Given the description of an element on the screen output the (x, y) to click on. 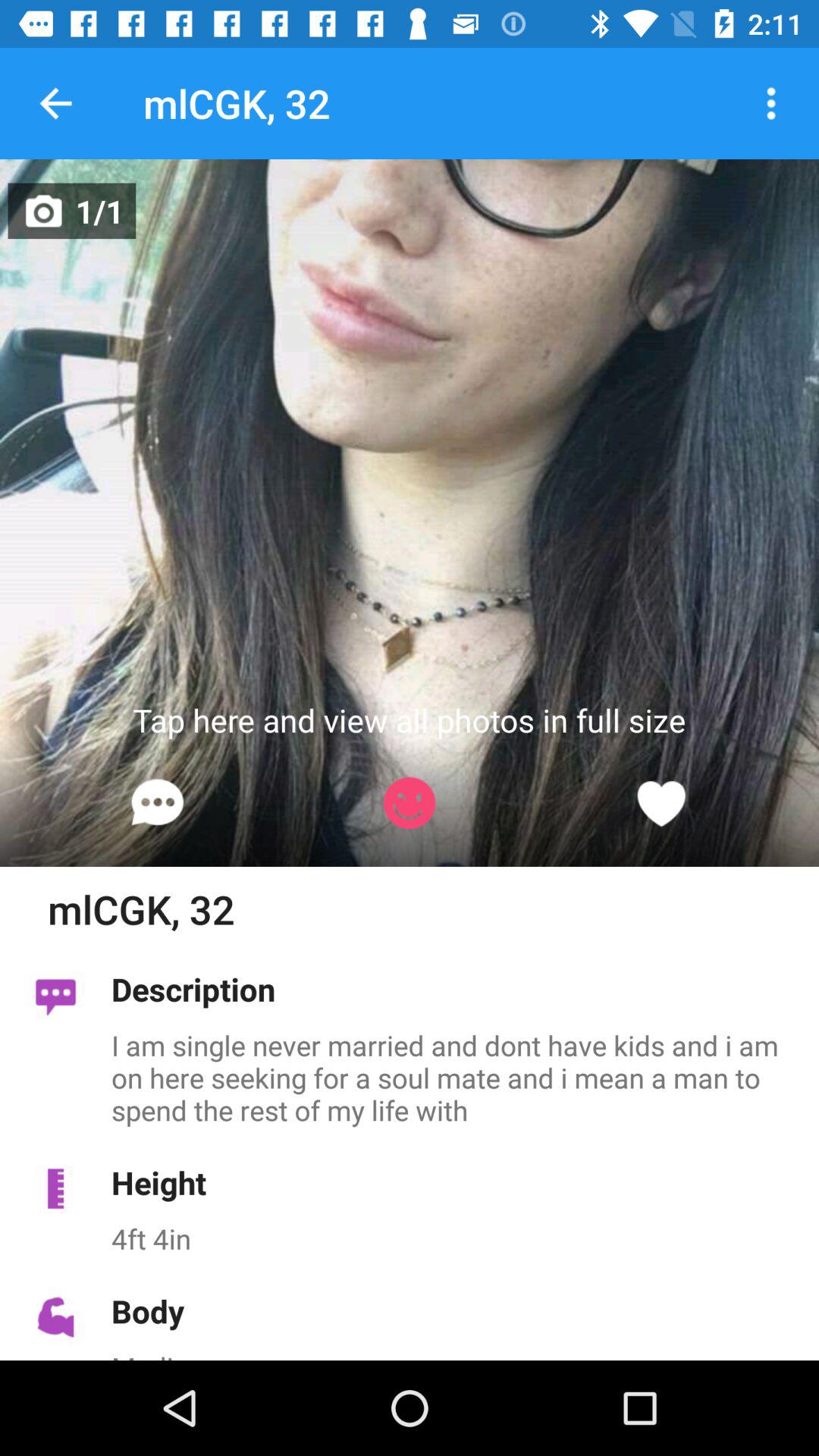
click medium (457, 1354)
